Given the description of an element on the screen output the (x, y) to click on. 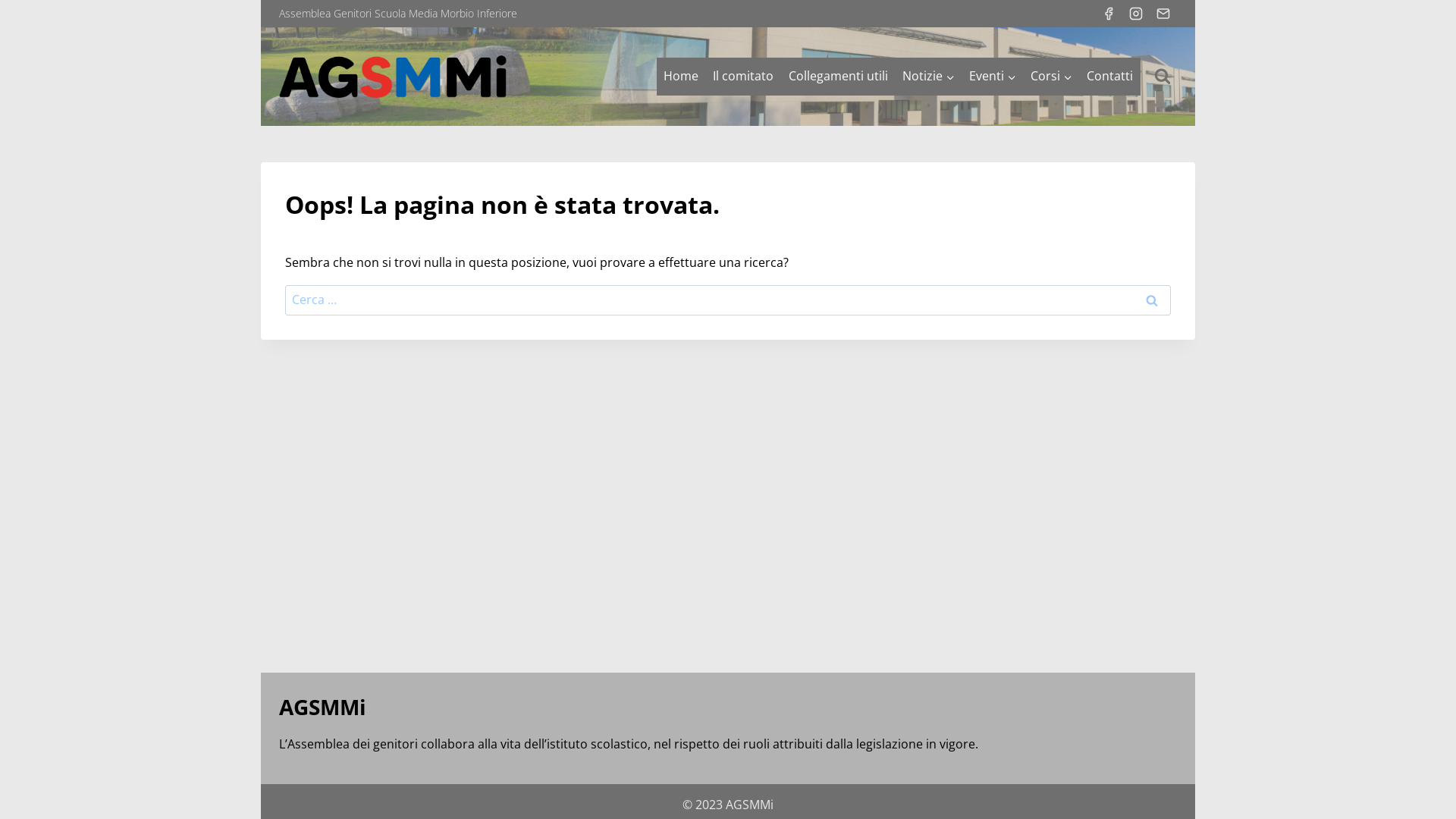
Eventi Element type: text (991, 76)
Collegamenti utili Element type: text (837, 76)
Contatti Element type: text (1109, 76)
Corsi Element type: text (1051, 76)
Cerca Element type: text (1151, 300)
Home Element type: text (681, 76)
Il comitato Element type: text (743, 76)
Notizie Element type: text (927, 76)
